Given the description of an element on the screen output the (x, y) to click on. 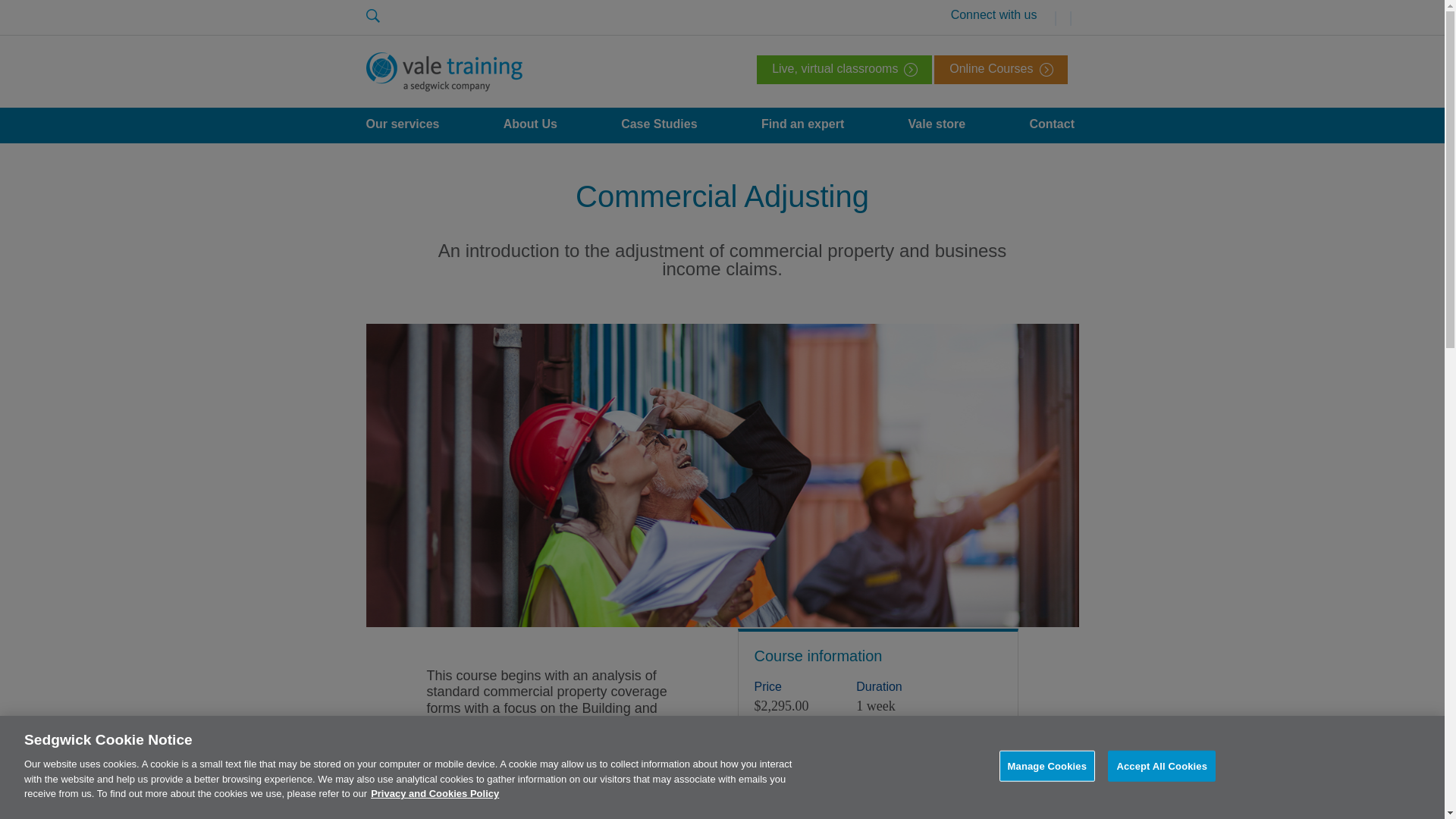
Online Courses (1000, 69)
Live, virtual classrooms (844, 69)
Our services (402, 125)
